Given the description of an element on the screen output the (x, y) to click on. 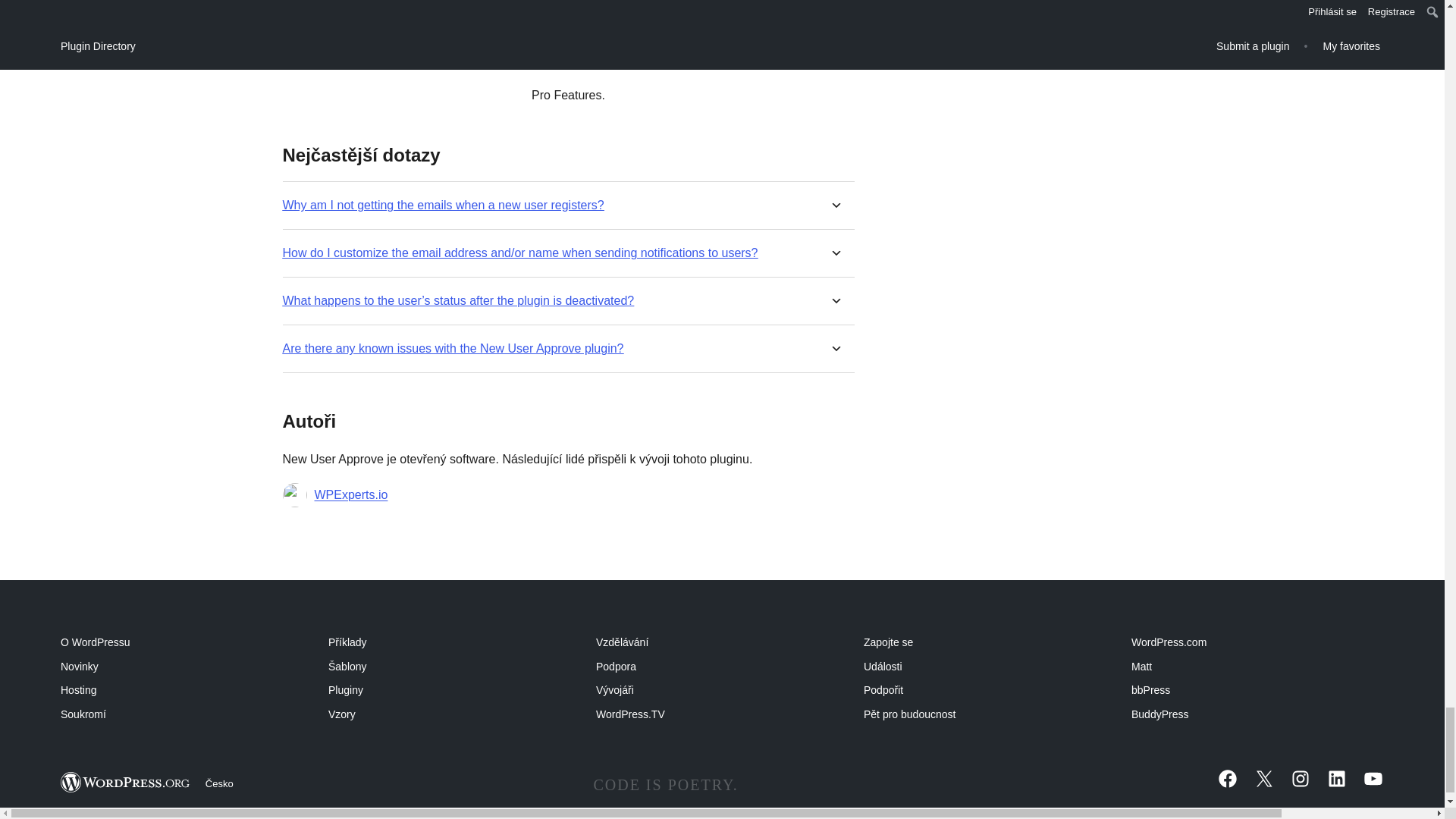
WordPress.org (125, 782)
